Given the description of an element on the screen output the (x, y) to click on. 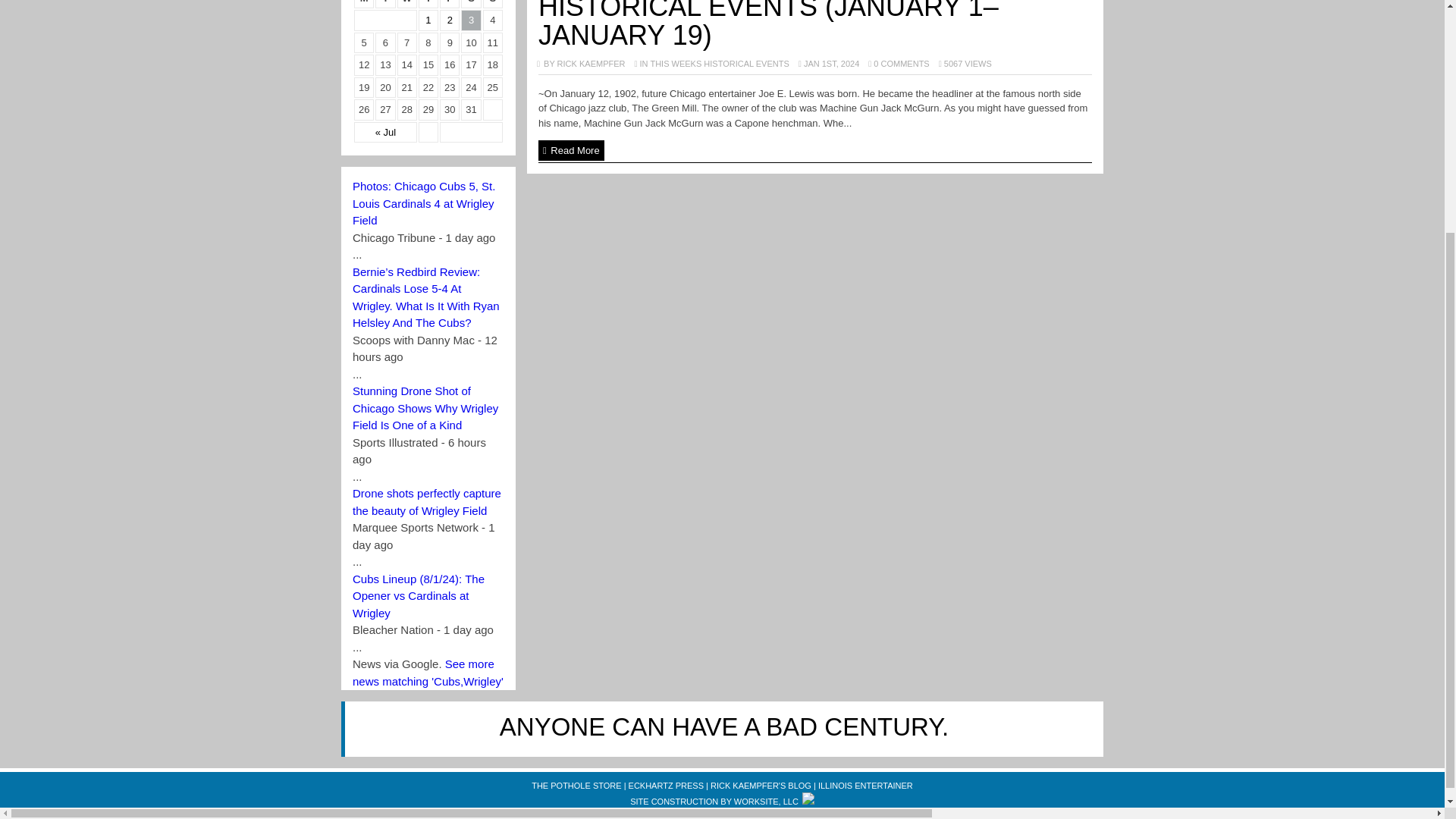
Saturday (470, 4)
Sunday (492, 4)
Friday (449, 4)
Thursday (428, 4)
Wednesday (406, 4)
Monday (363, 4)
Tuesday (384, 4)
